Given the description of an element on the screen output the (x, y) to click on. 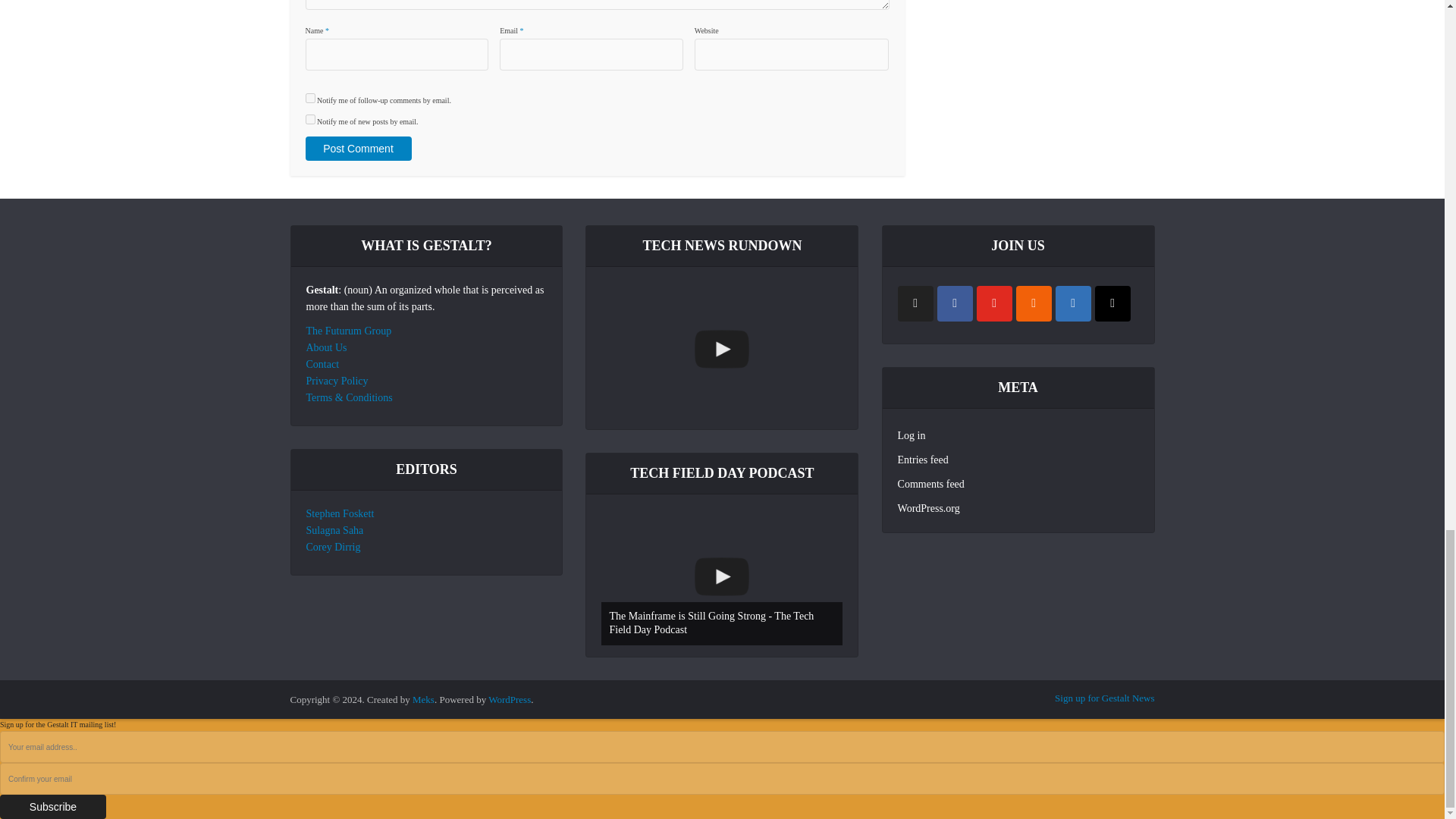
subscribe (309, 98)
Linkedin (1072, 303)
Facebook (954, 303)
Post Comment (357, 148)
RSS (1033, 303)
YouTube (993, 303)
Mail (1112, 303)
subscribe (309, 119)
